Given the description of an element on the screen output the (x, y) to click on. 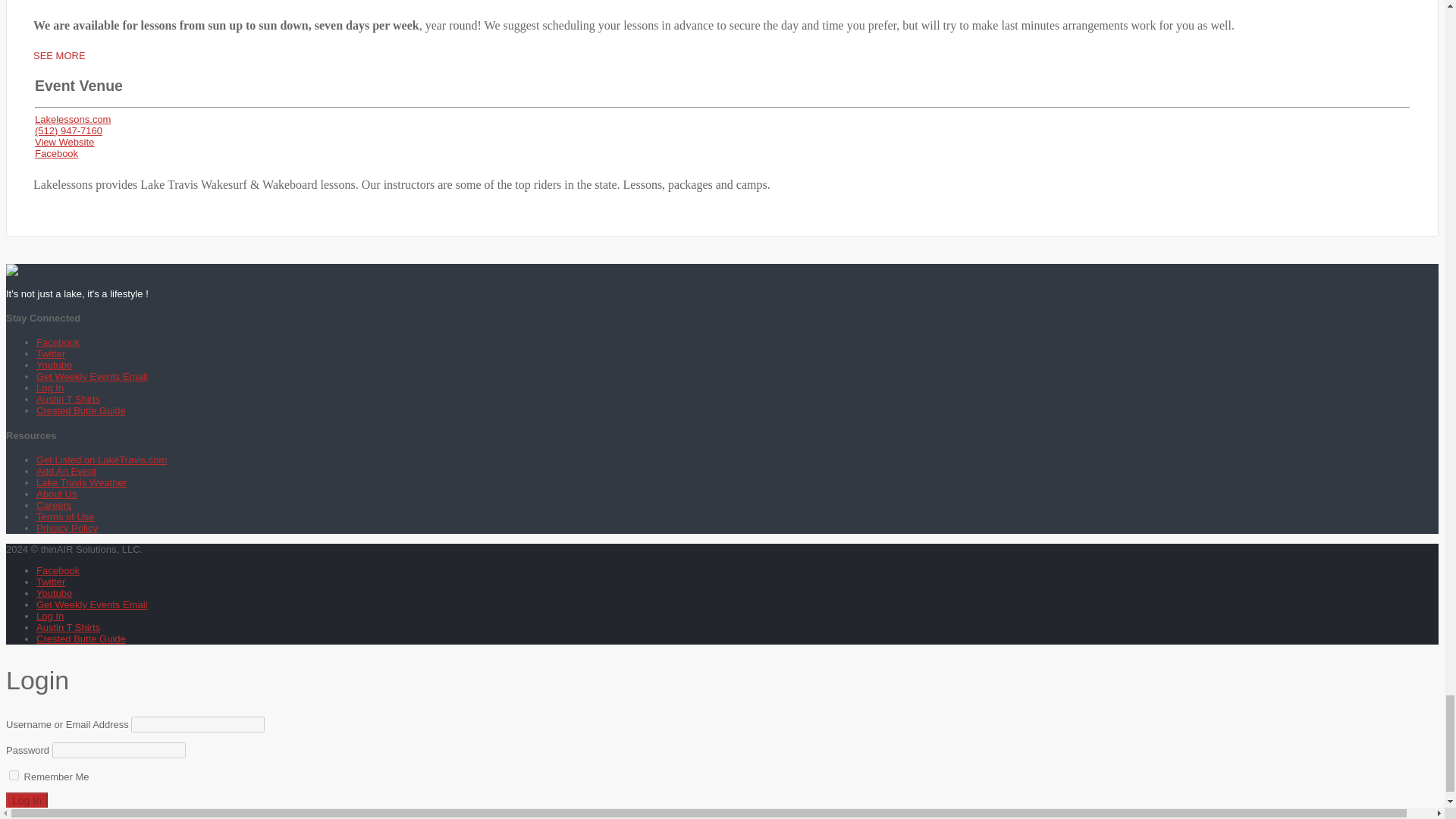
Log In (26, 800)
forever (13, 775)
